Given the description of an element on the screen output the (x, y) to click on. 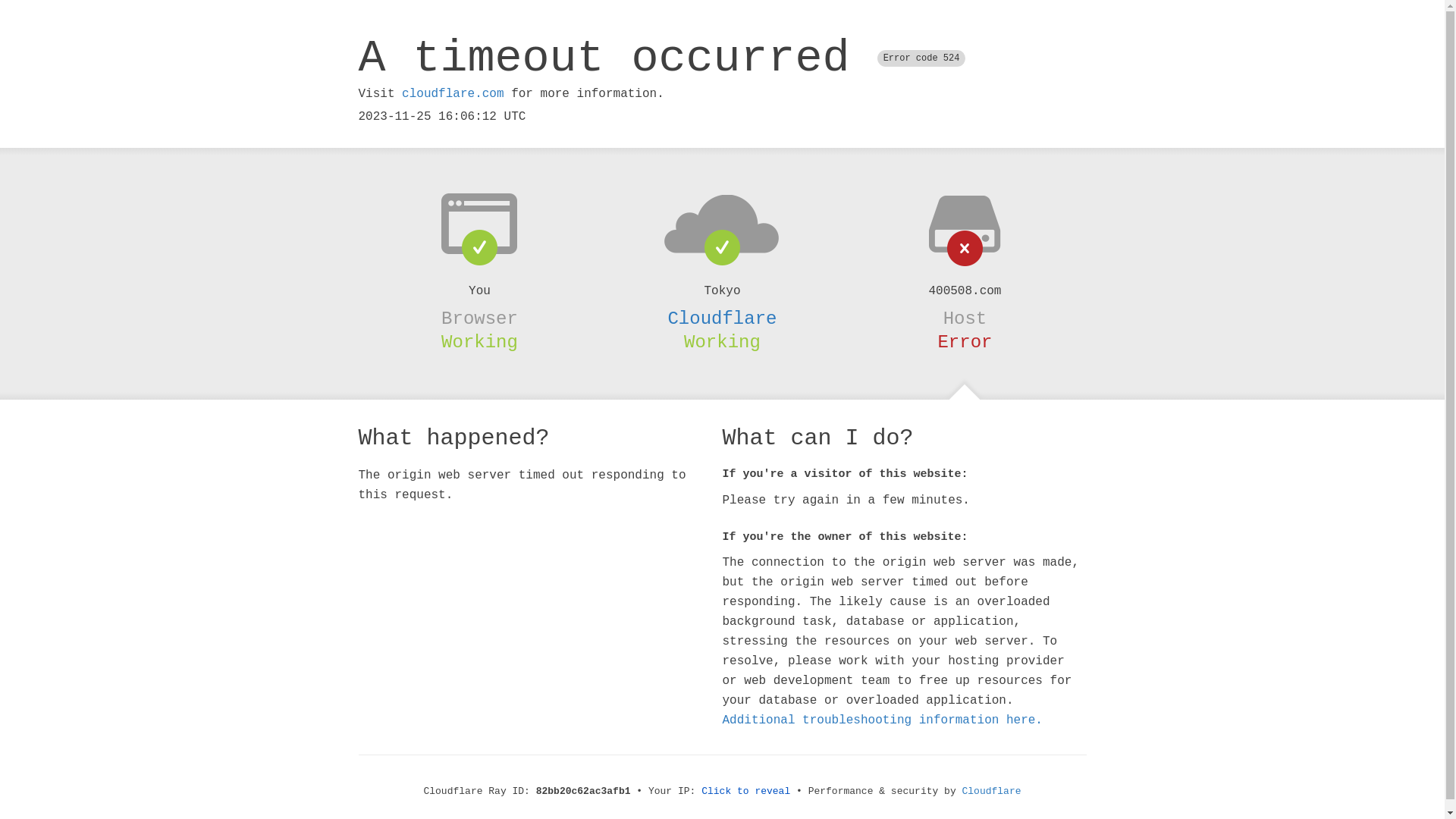
Cloudflare Element type: text (991, 791)
Cloudflare Element type: text (721, 318)
cloudflare.com Element type: text (452, 93)
Click to reveal Element type: text (745, 791)
Additional troubleshooting information here. Element type: text (881, 720)
